Given the description of an element on the screen output the (x, y) to click on. 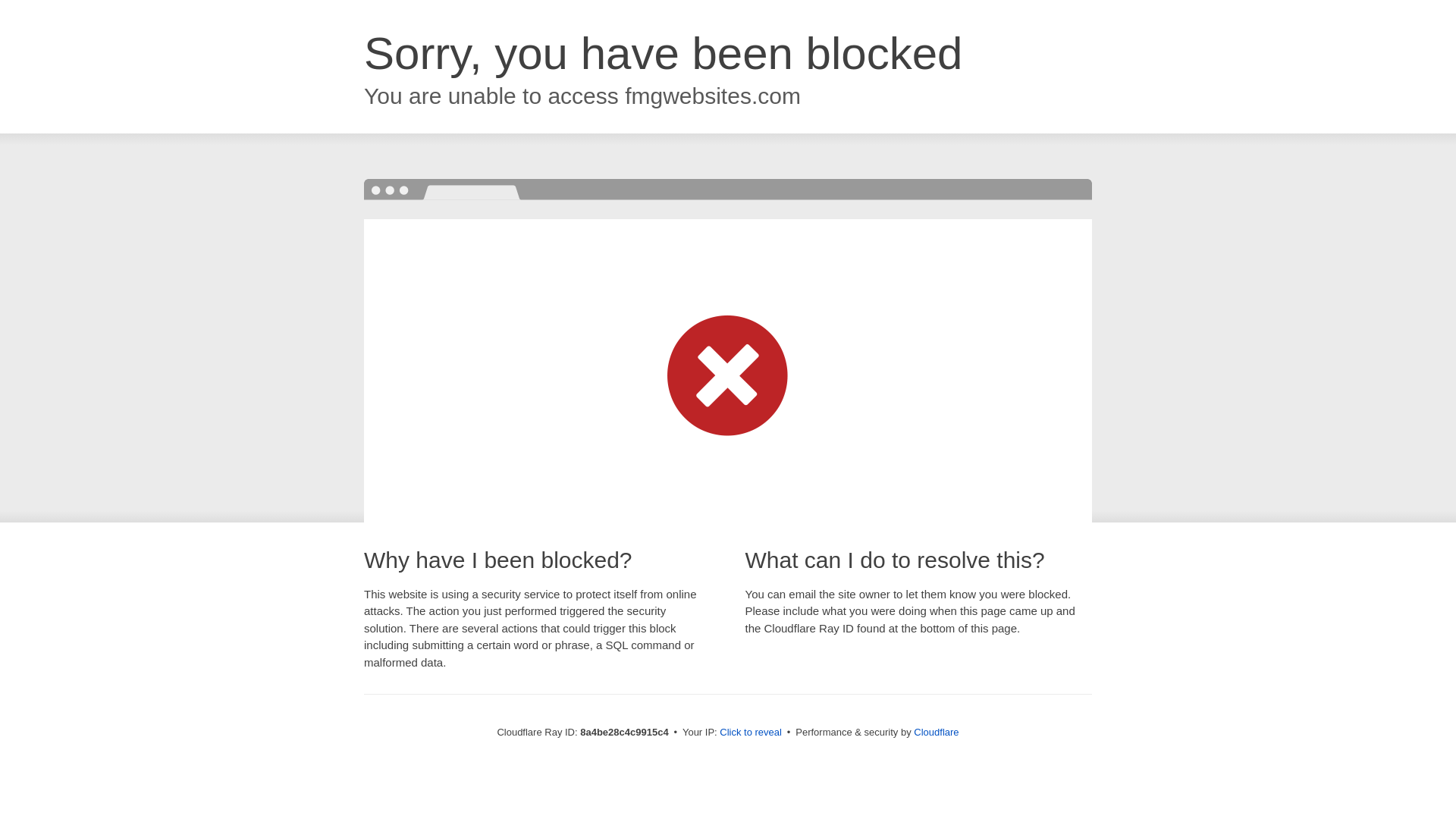
Click to reveal (750, 732)
Cloudflare (936, 731)
